Given the description of an element on the screen output the (x, y) to click on. 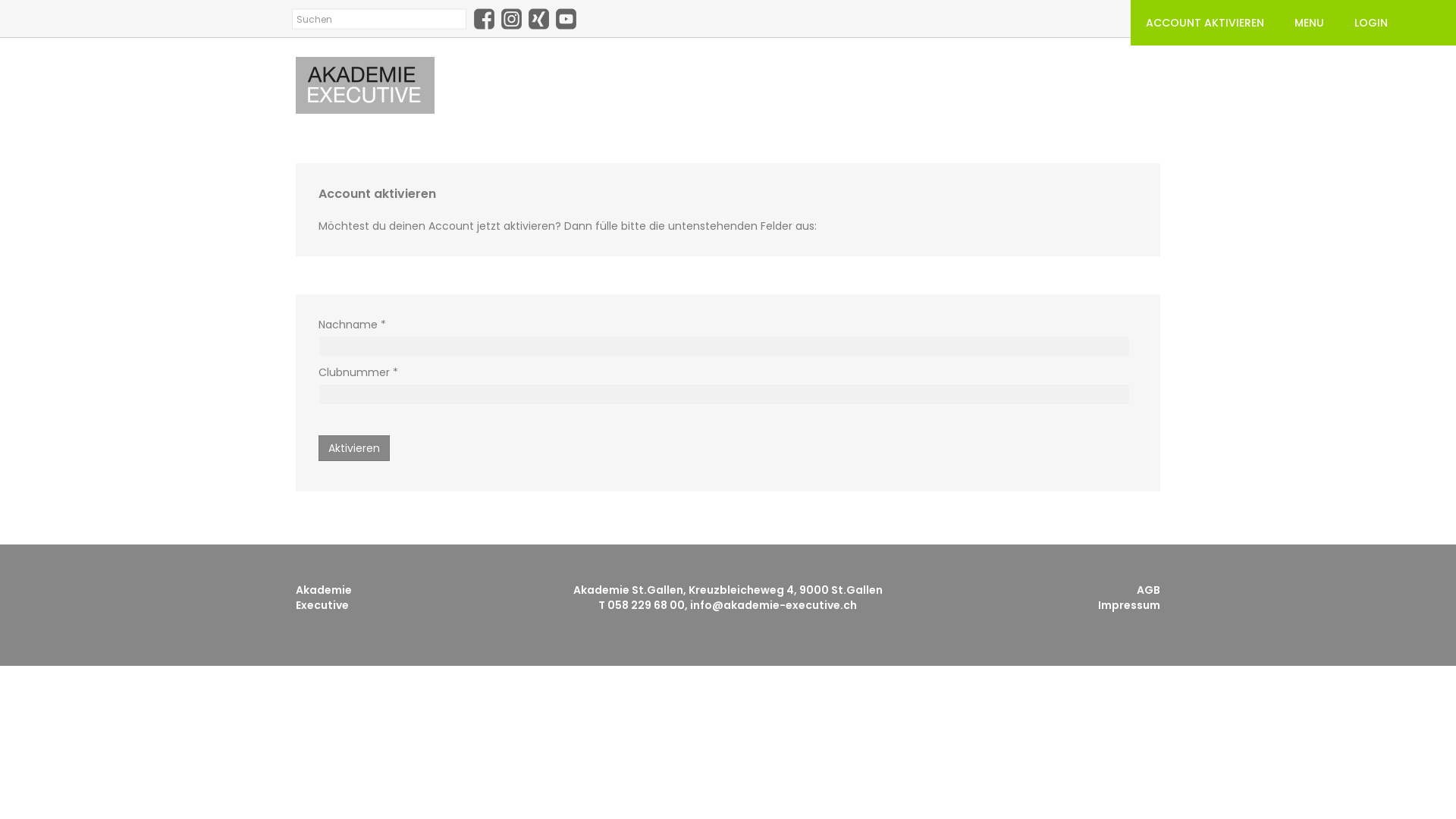
ACCOUNT AKTIVIEREN Element type: text (1204, 22)
MENU Element type: text (1309, 22)
Impressum Element type: text (1129, 604)
info@akademie-executive.ch Element type: text (773, 604)
Aktivieren Element type: text (353, 448)
AGB Element type: text (1148, 589)
LOGIN Element type: text (1370, 22)
